Given the description of an element on the screen output the (x, y) to click on. 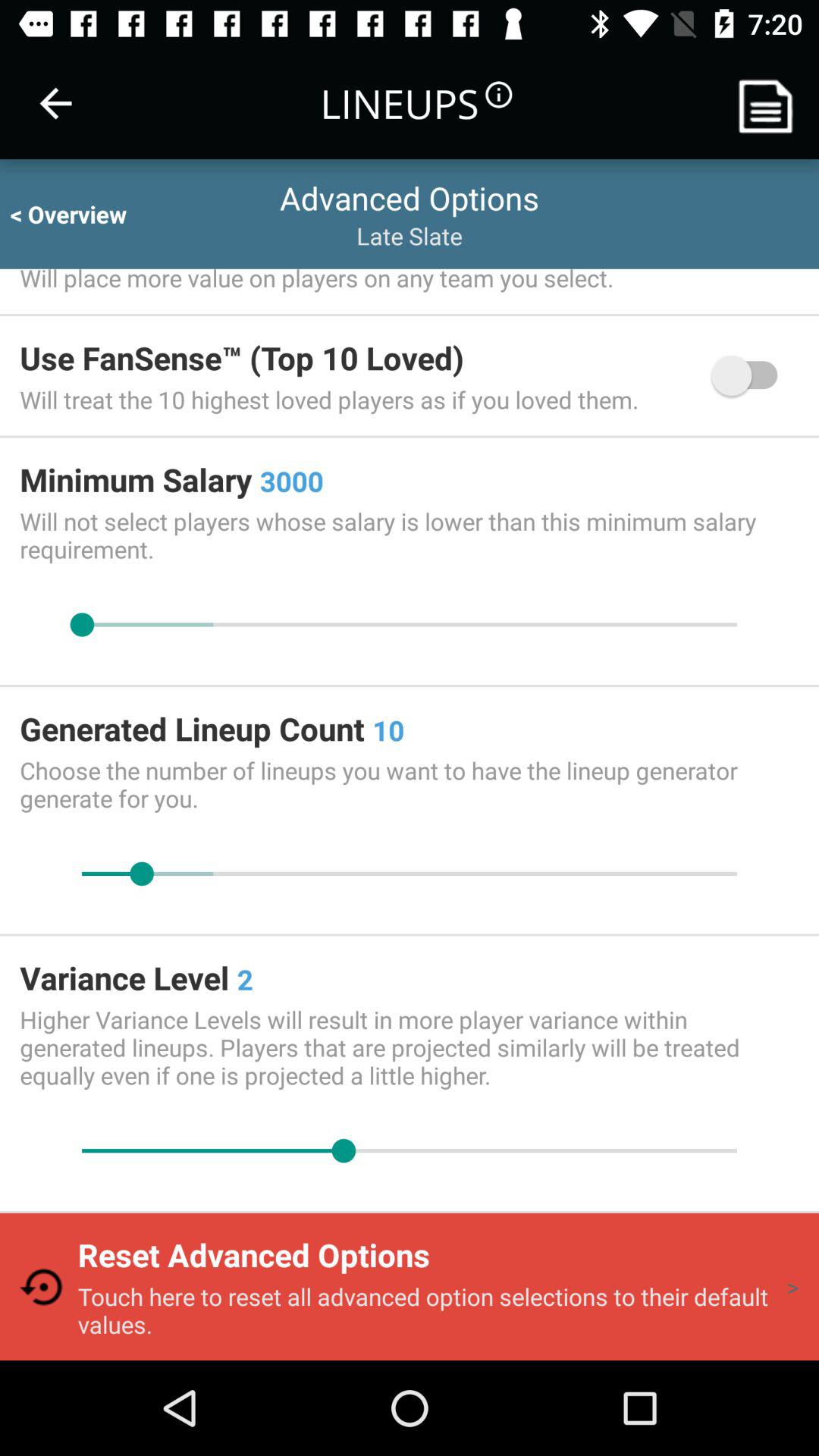
increase/decrease lineup count (409, 873)
